Given the description of an element on the screen output the (x, y) to click on. 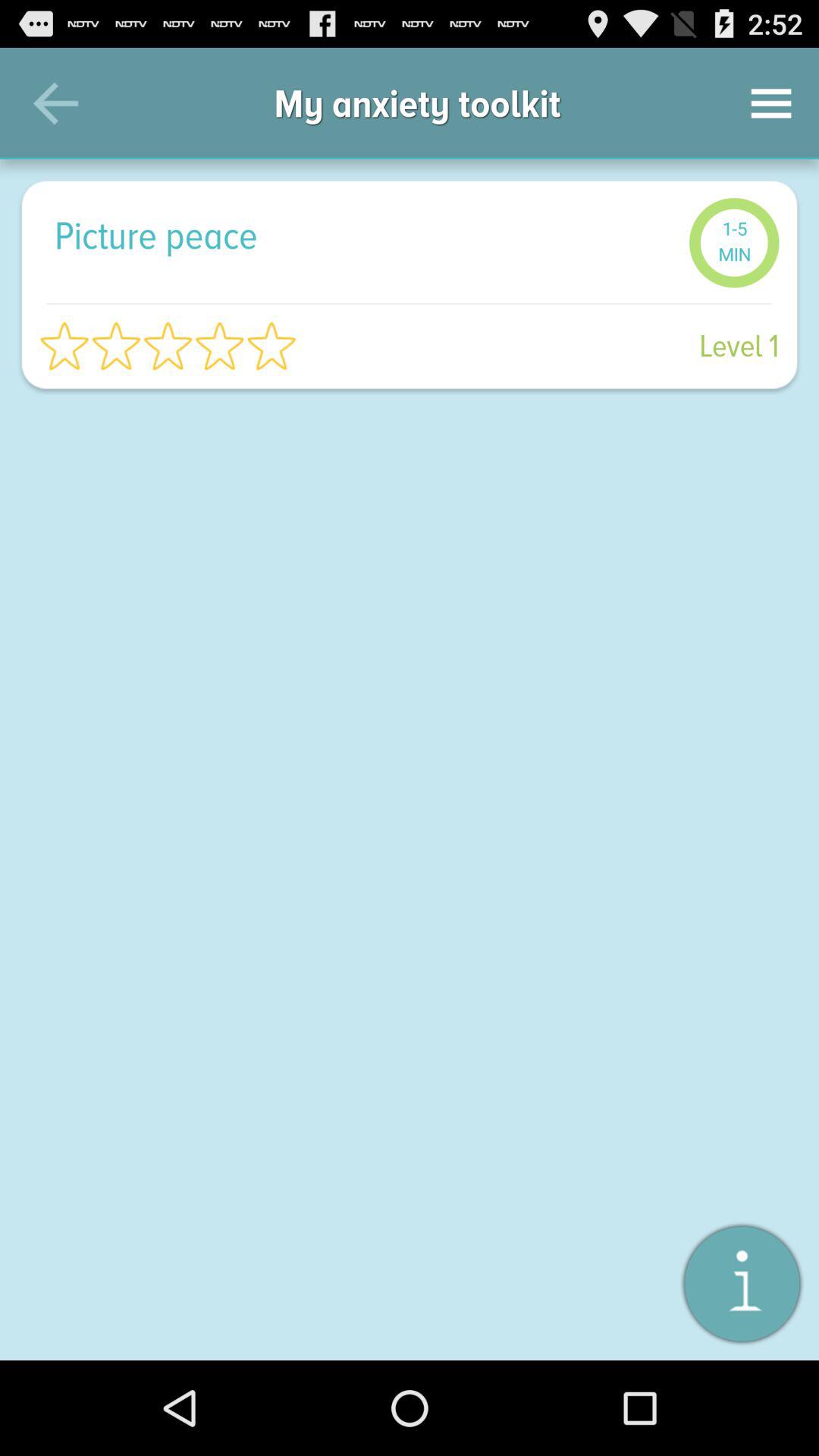
launch the icon to the left of the my anxiety toolkit (55, 103)
